Given the description of an element on the screen output the (x, y) to click on. 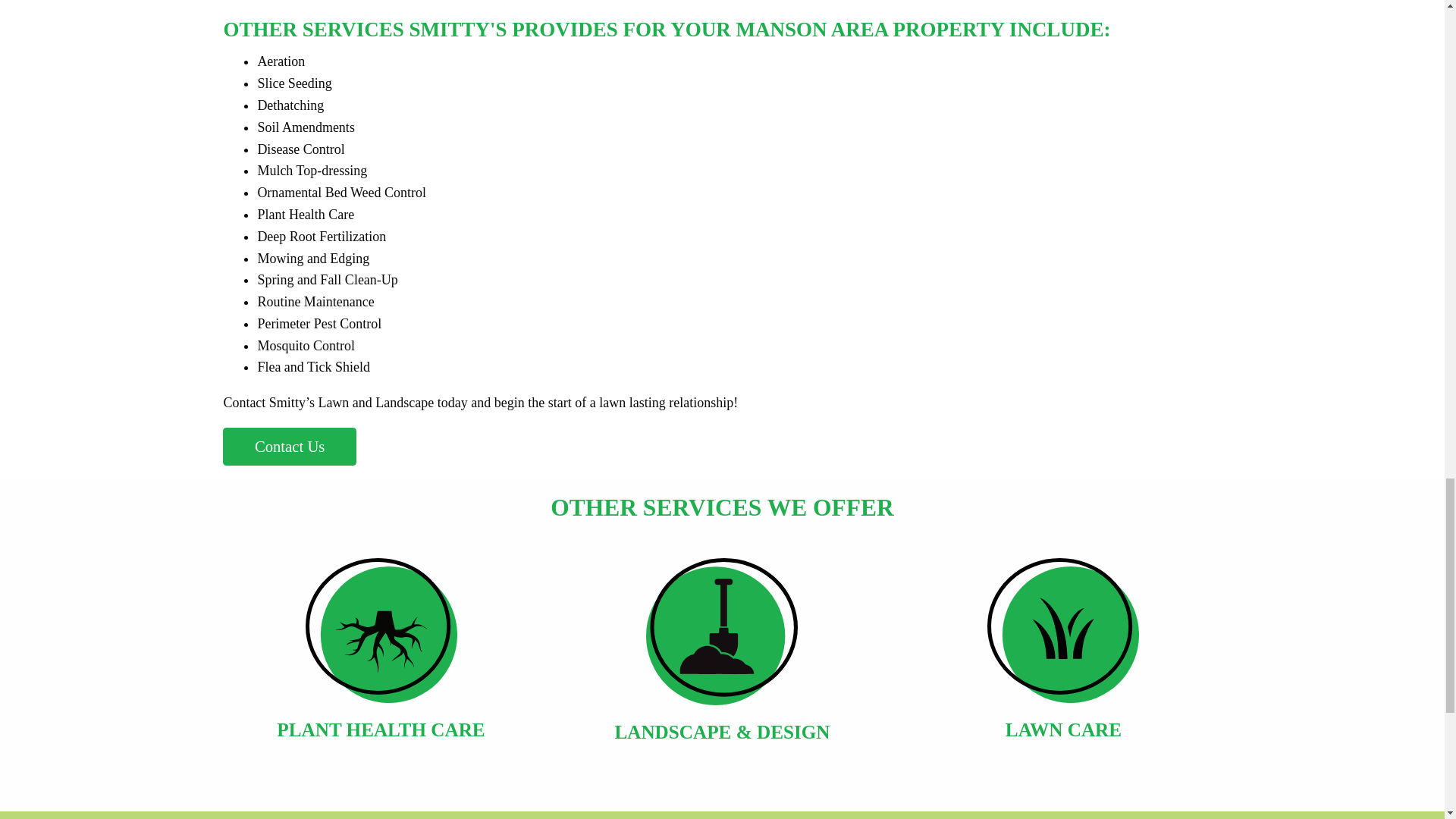
Learn more about Plant Health Care (380, 658)
Contact Us (289, 446)
Learn more about Lawn Care (1063, 658)
